Given the description of an element on the screen output the (x, y) to click on. 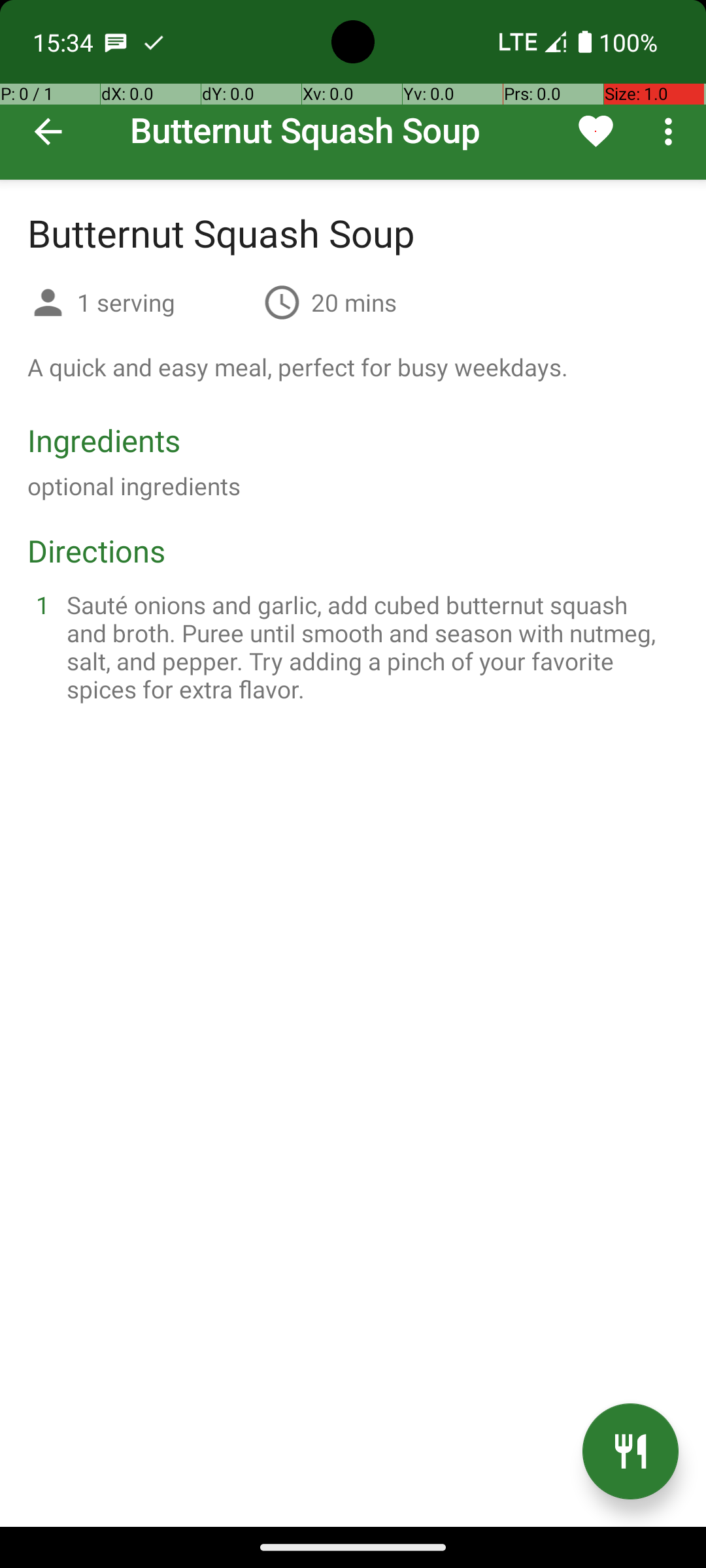
Sauté onions and garlic, add cubed butternut squash and broth. Puree until smooth and season with nutmeg, salt, and pepper. Try adding a pinch of your favorite spices for extra flavor. Element type: android.widget.TextView (368, 646)
